Given the description of an element on the screen output the (x, y) to click on. 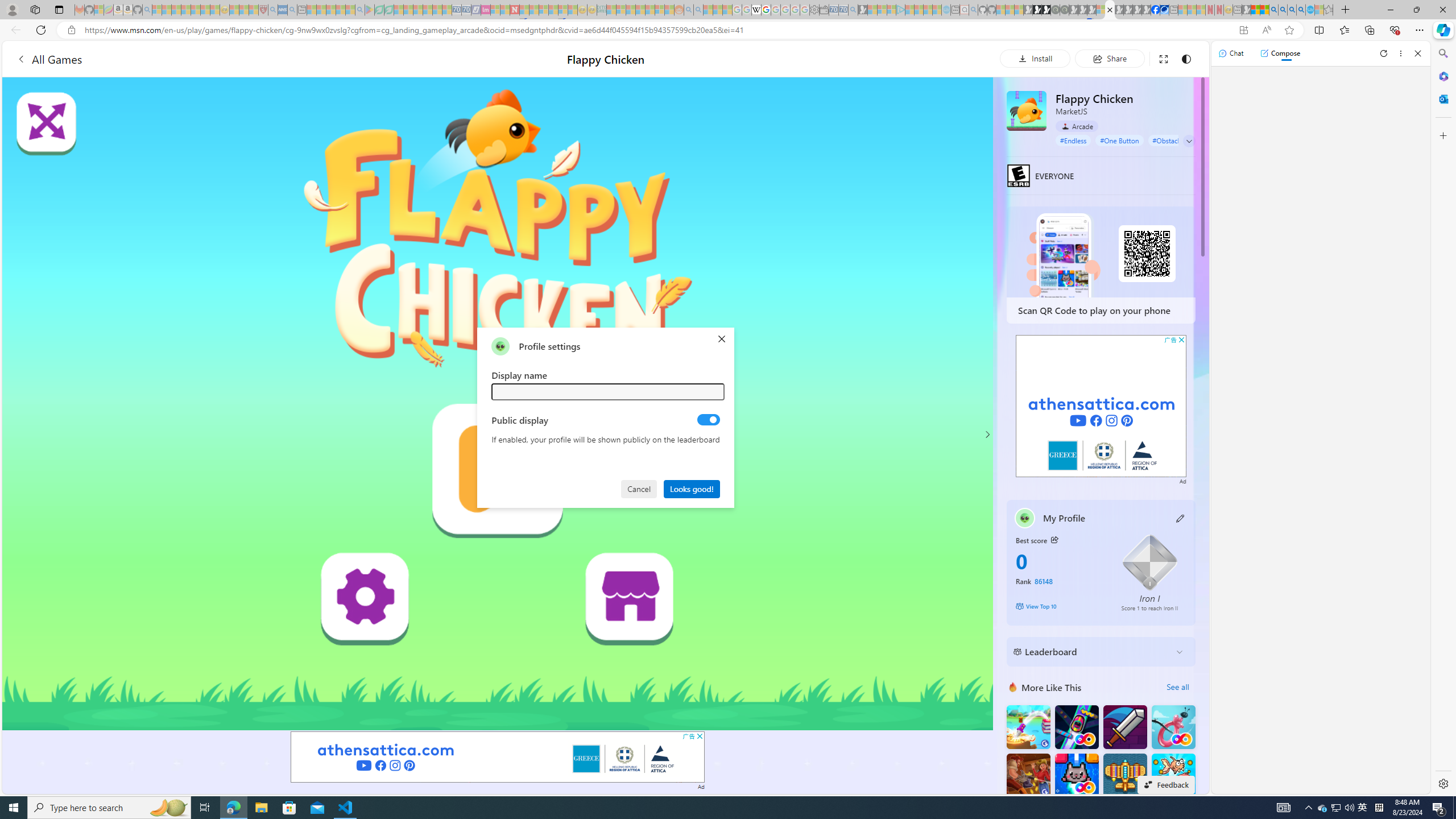
2009 Bing officially replaced Live Search on June 3 - Search (1283, 9)
Fish Merge FRVR (1173, 775)
View Top 10 (1060, 605)
#One Button (1119, 140)
Class: control (1188, 140)
Kinda Frugal - MSN - Sleeping (649, 9)
